Given the description of an element on the screen output the (x, y) to click on. 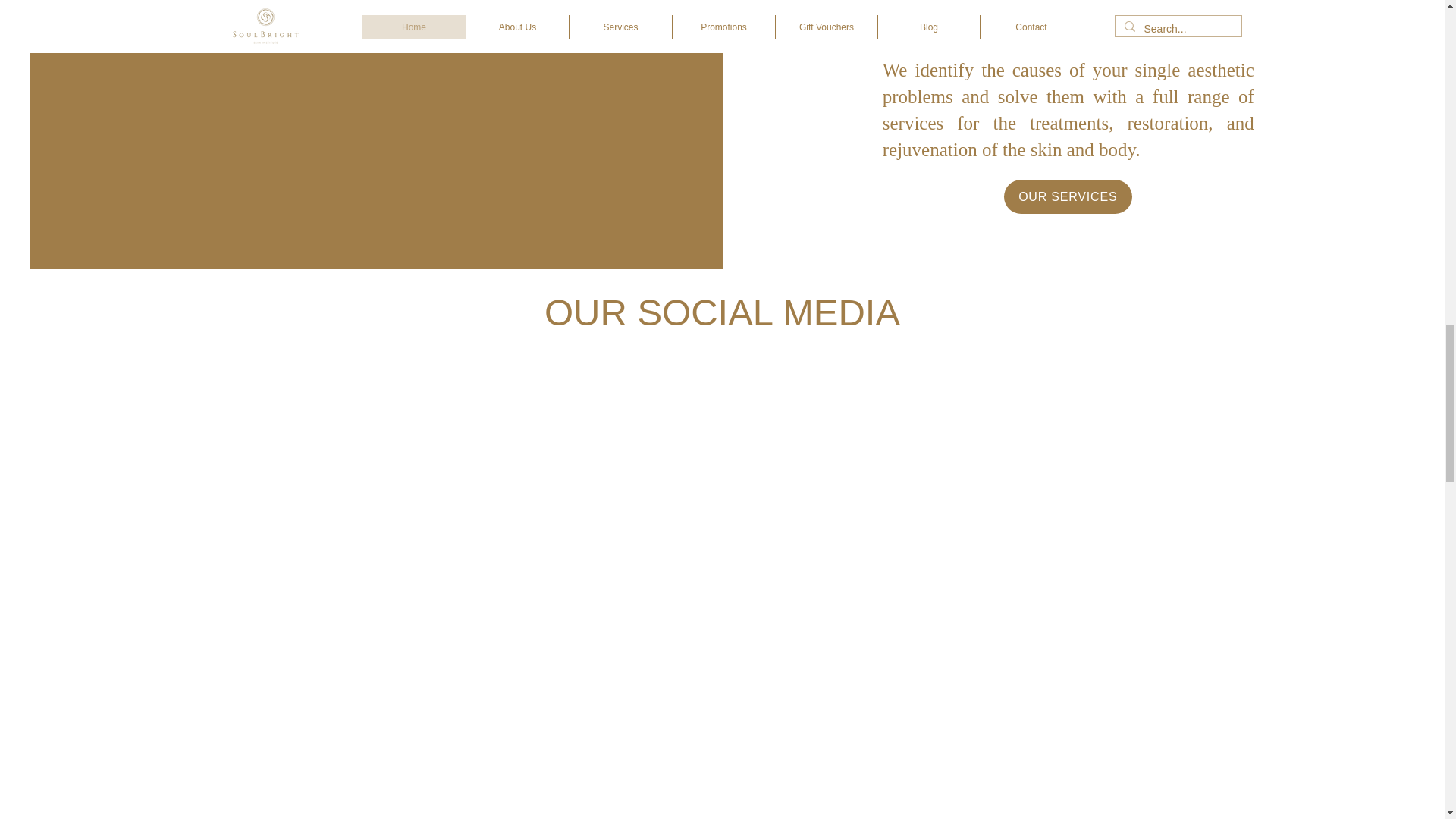
OUR SERVICES (1068, 196)
